Given the description of an element on the screen output the (x, y) to click on. 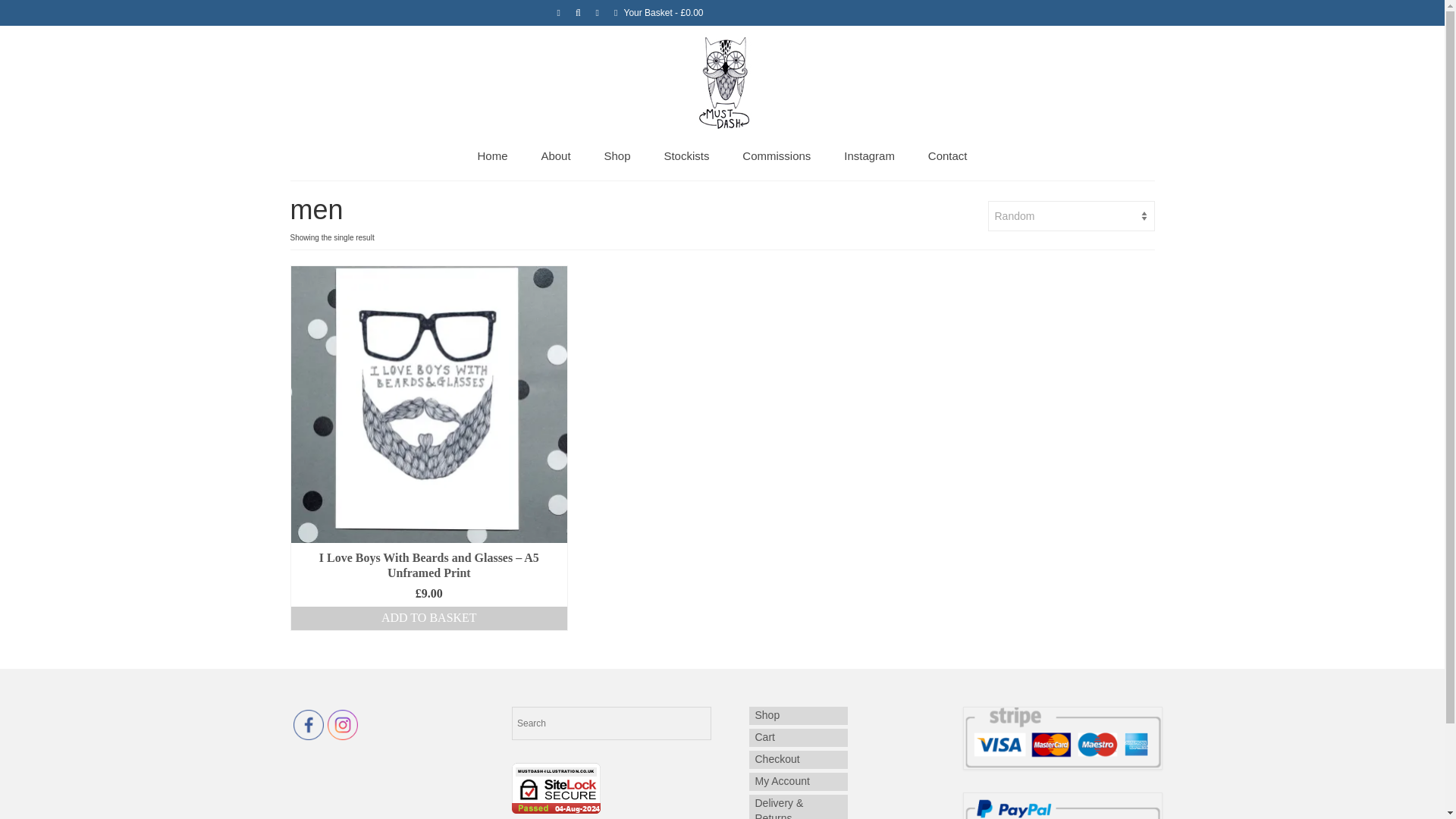
Instagram (342, 725)
About (555, 155)
Instagram (869, 155)
Facebook (307, 725)
Commissions (775, 155)
SiteLock (555, 788)
Shop (616, 155)
View your shopping basket (659, 12)
Contact (947, 155)
Home (491, 155)
Stockists (685, 155)
